Given the description of an element on the screen output the (x, y) to click on. 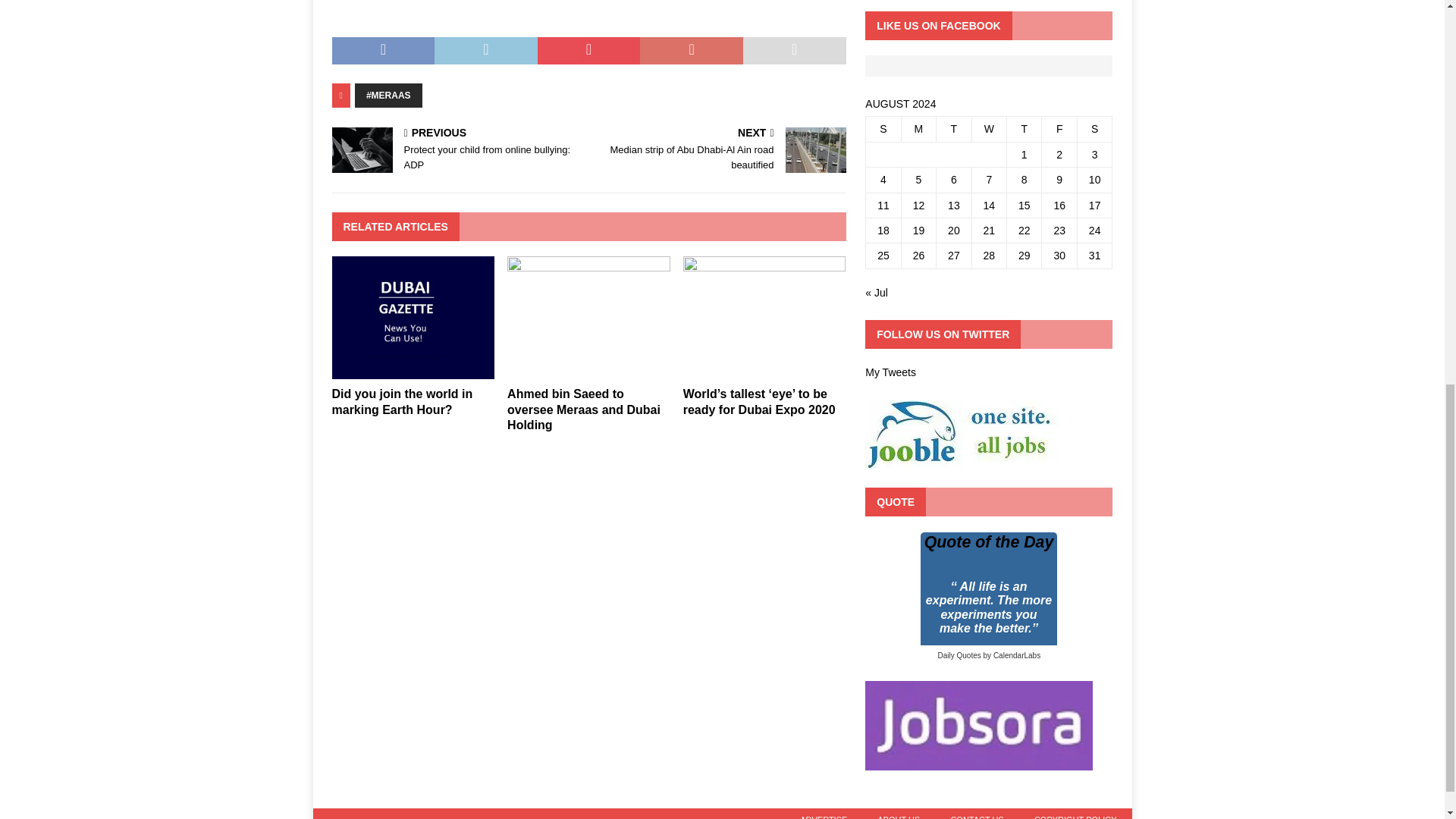
Ahmed bin Saeed to oversee Meraas and Dubai Holding (587, 369)
Did you join the world in marking Earth Hour? (402, 401)
Ahmed bin Saeed to oversee Meraas and Dubai Holding (583, 409)
Did you join the world in marking Earth Hour? (413, 369)
